Given the description of an element on the screen output the (x, y) to click on. 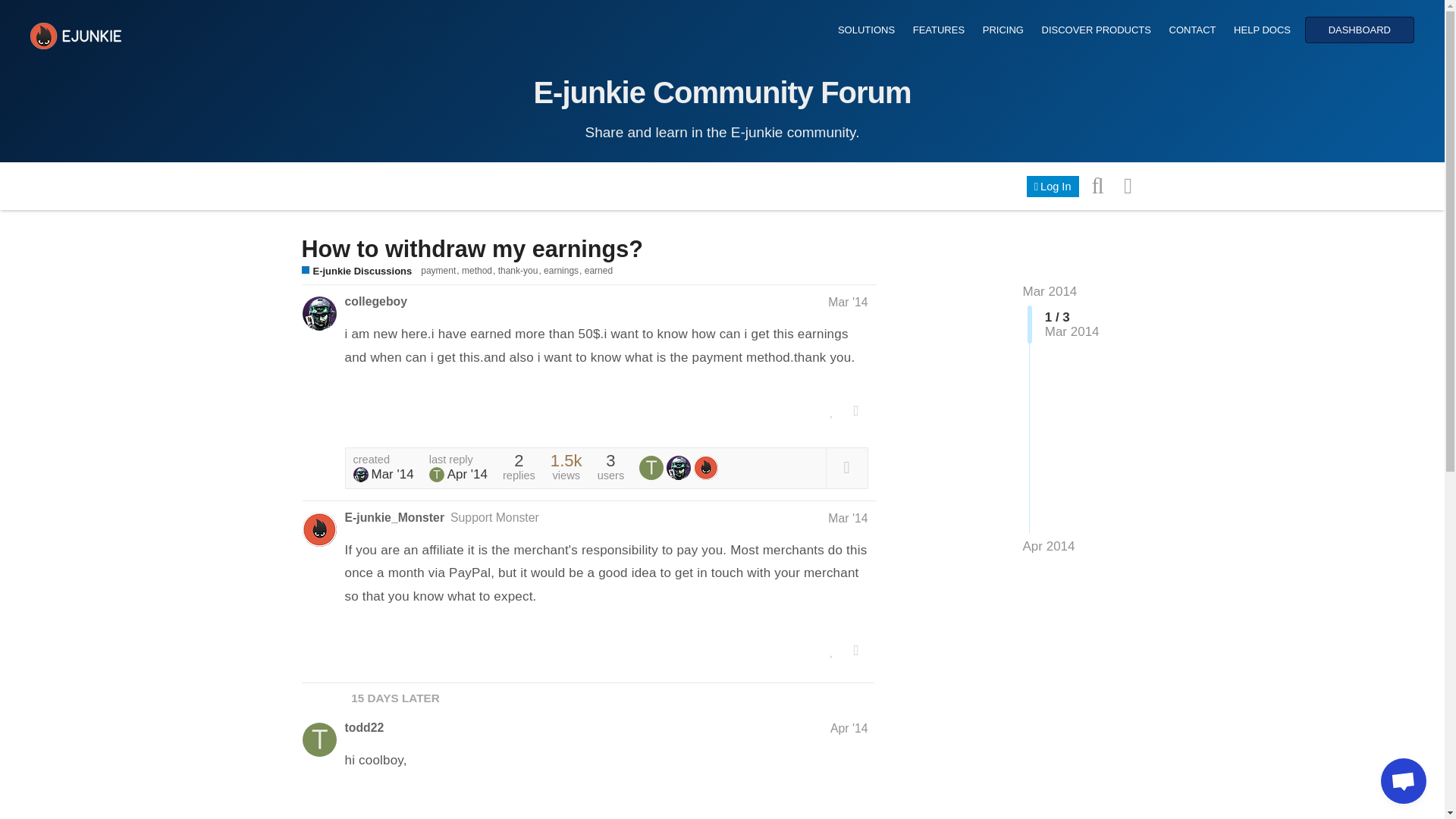
HELP DOCS (1262, 29)
method (479, 270)
1529 (566, 460)
search topics, posts, users, or categories (1098, 184)
E-junkie Discussions (356, 270)
earned (598, 270)
Apr 2014 (1048, 545)
PRICING (1002, 29)
Log In (1052, 186)
E-junkie Community Forum (721, 92)
FEATURES (938, 29)
todd22 (651, 467)
go to another topic list or category (1127, 184)
collegeboy (318, 313)
